Given the description of an element on the screen output the (x, y) to click on. 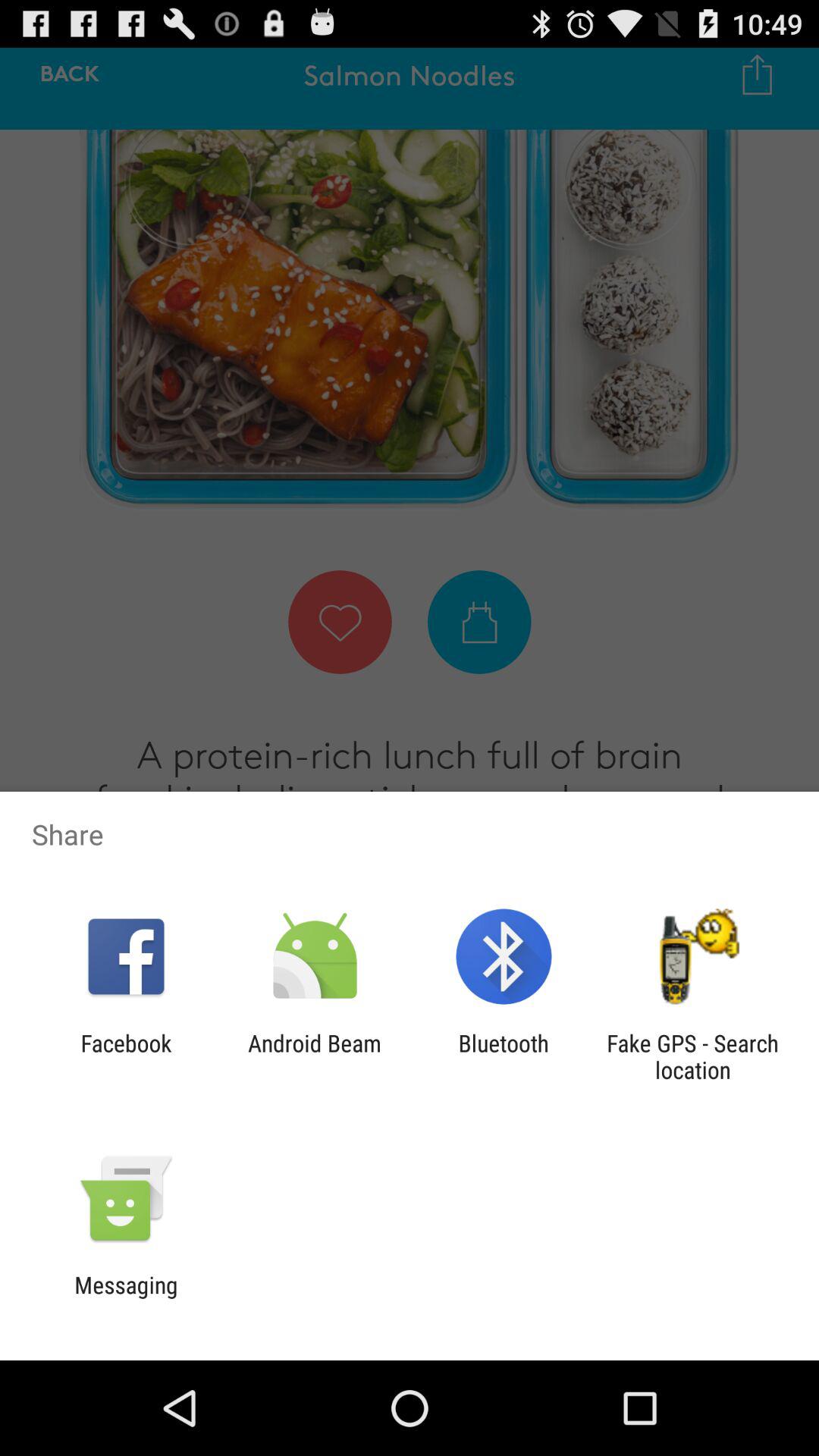
jump to the bluetooth item (503, 1056)
